Given the description of an element on the screen output the (x, y) to click on. 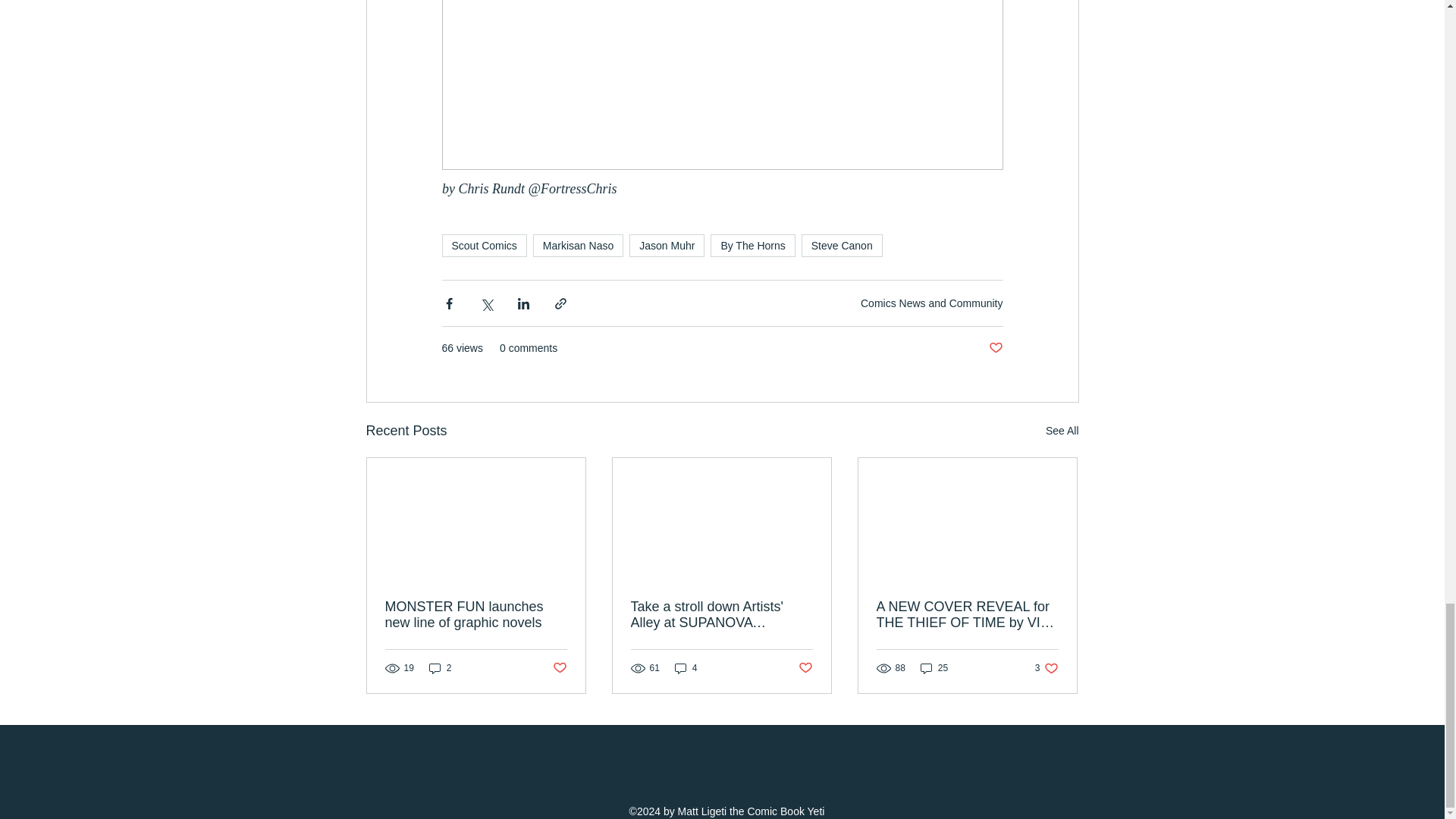
Comics News and Community (931, 303)
Jason Muhr (666, 245)
Scout Comics (483, 245)
MONSTER FUN launches new line of graphic novels (476, 614)
Steve Canon (842, 245)
By The Horns (752, 245)
Post not marked as liked (995, 348)
See All (1061, 431)
Markisan Naso (577, 245)
